Given the description of an element on the screen output the (x, y) to click on. 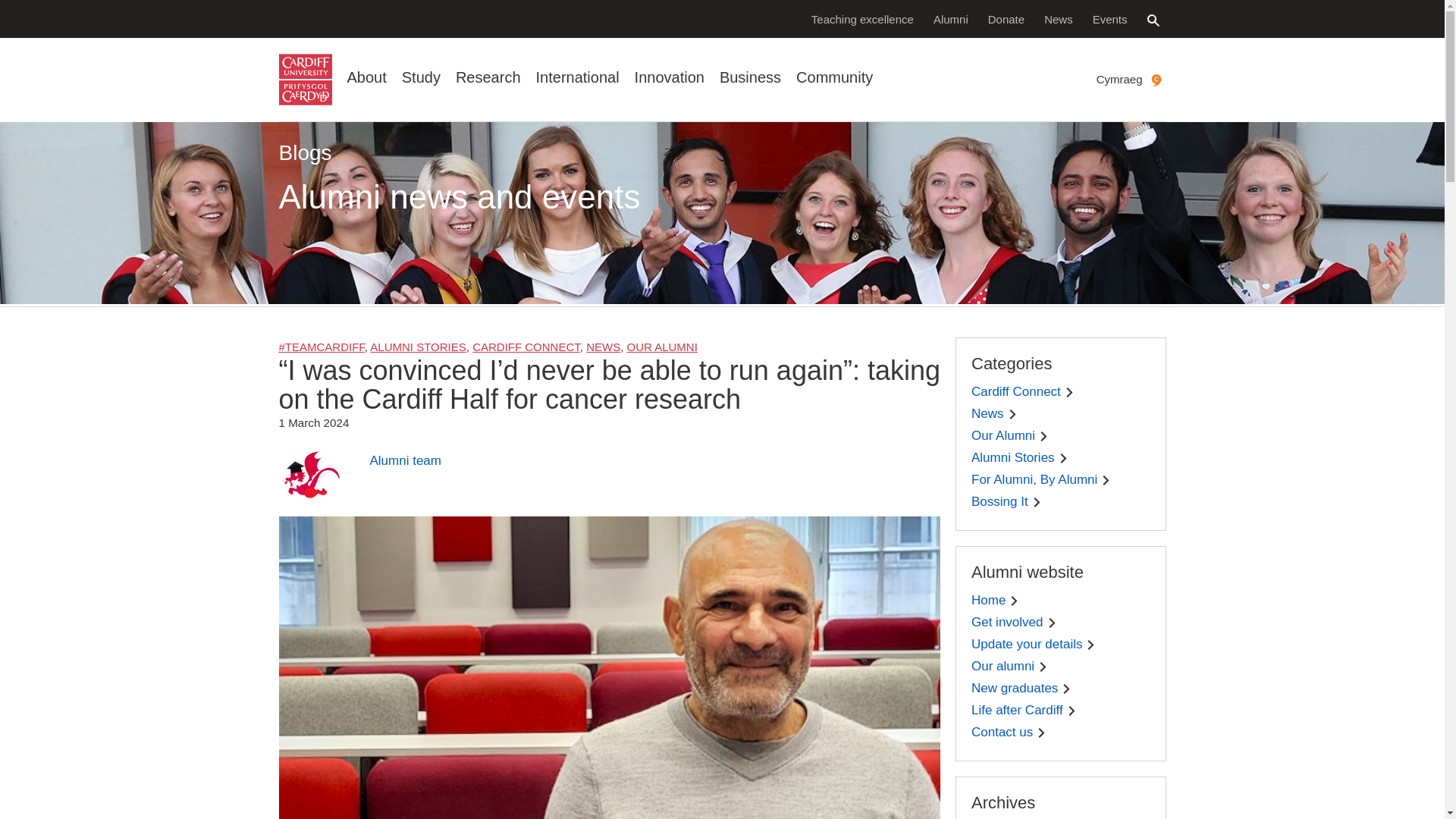
Donate (1005, 19)
Alumni (951, 19)
Chevron right (1051, 623)
Teaching excellence (862, 19)
Events (1109, 19)
View all posts in Alumni Stories (417, 346)
View all posts in Cardiff Connect (525, 346)
Cardiff University logo (305, 79)
Chevron right (1091, 644)
Chevron right (1066, 688)
Chevron right (1014, 601)
Chevron right (1012, 414)
News (1058, 19)
View all posts in News (603, 346)
Chevron right (1043, 436)
